Given the description of an element on the screen output the (x, y) to click on. 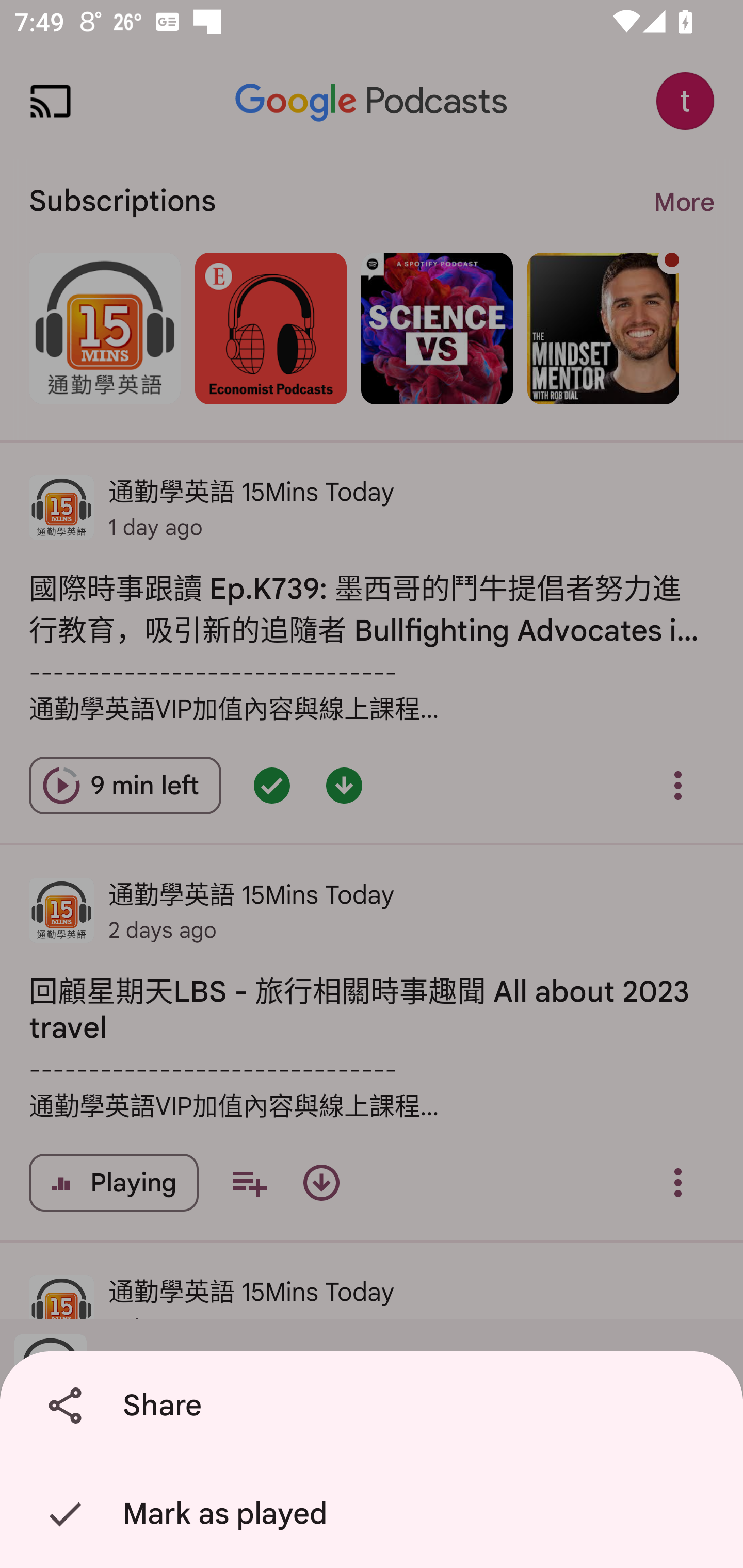
Share (375, 1405)
Mark as played (375, 1513)
